Given the description of an element on the screen output the (x, y) to click on. 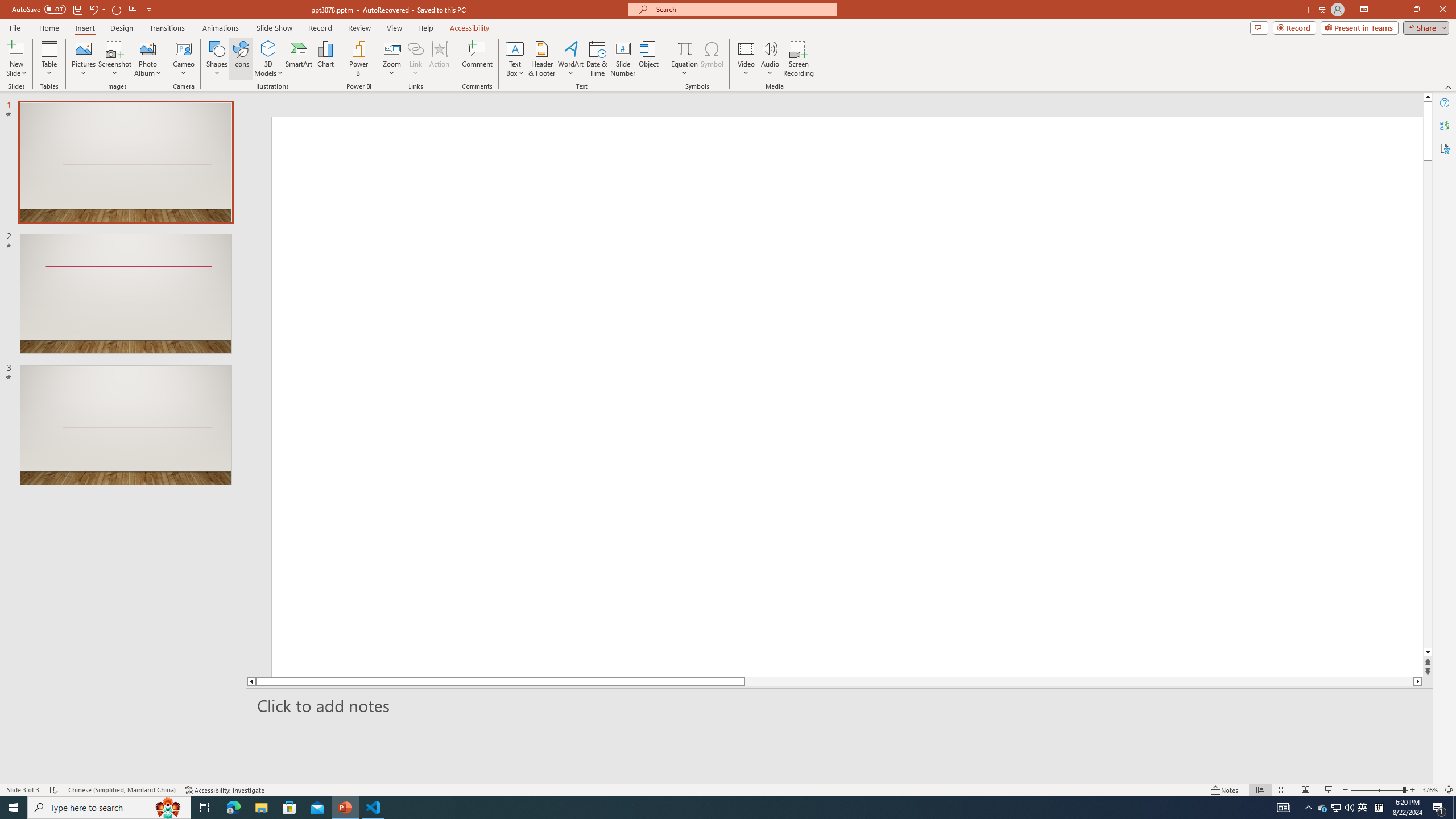
Equation (683, 48)
Screen Recording... (798, 58)
Zoom 376% (1430, 790)
Icons (240, 58)
3D Models (268, 48)
Comment (476, 58)
